Given the description of an element on the screen output the (x, y) to click on. 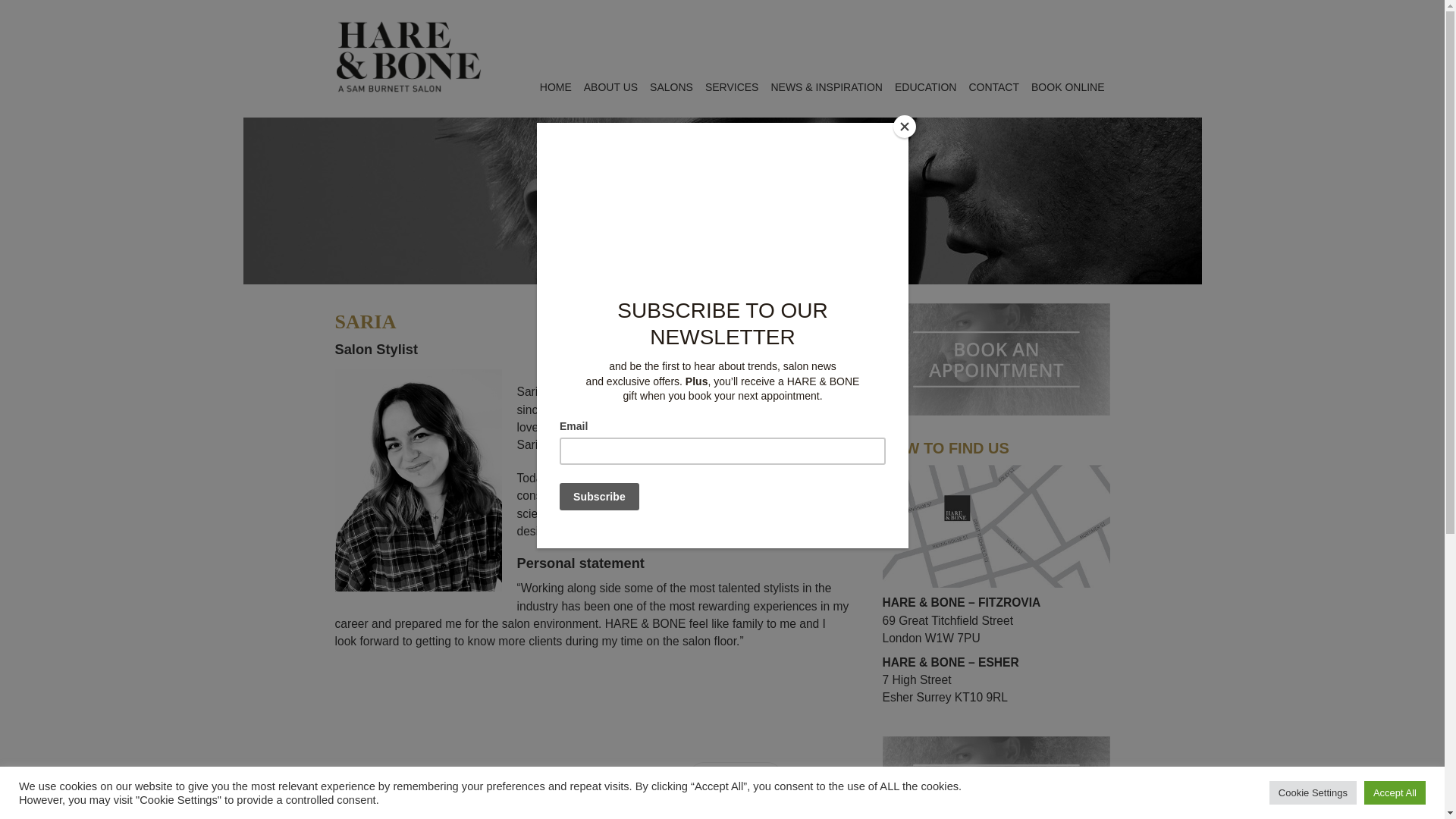
HOME (556, 87)
Contact (995, 472)
Book Now (735, 778)
CONTACT (993, 87)
Book Online (995, 744)
ABOUT US (610, 87)
SERVICES (731, 87)
BOOK ONLINE (1067, 87)
Book Online (995, 310)
EDUCATION (925, 87)
SALONS (670, 87)
